Given the description of an element on the screen output the (x, y) to click on. 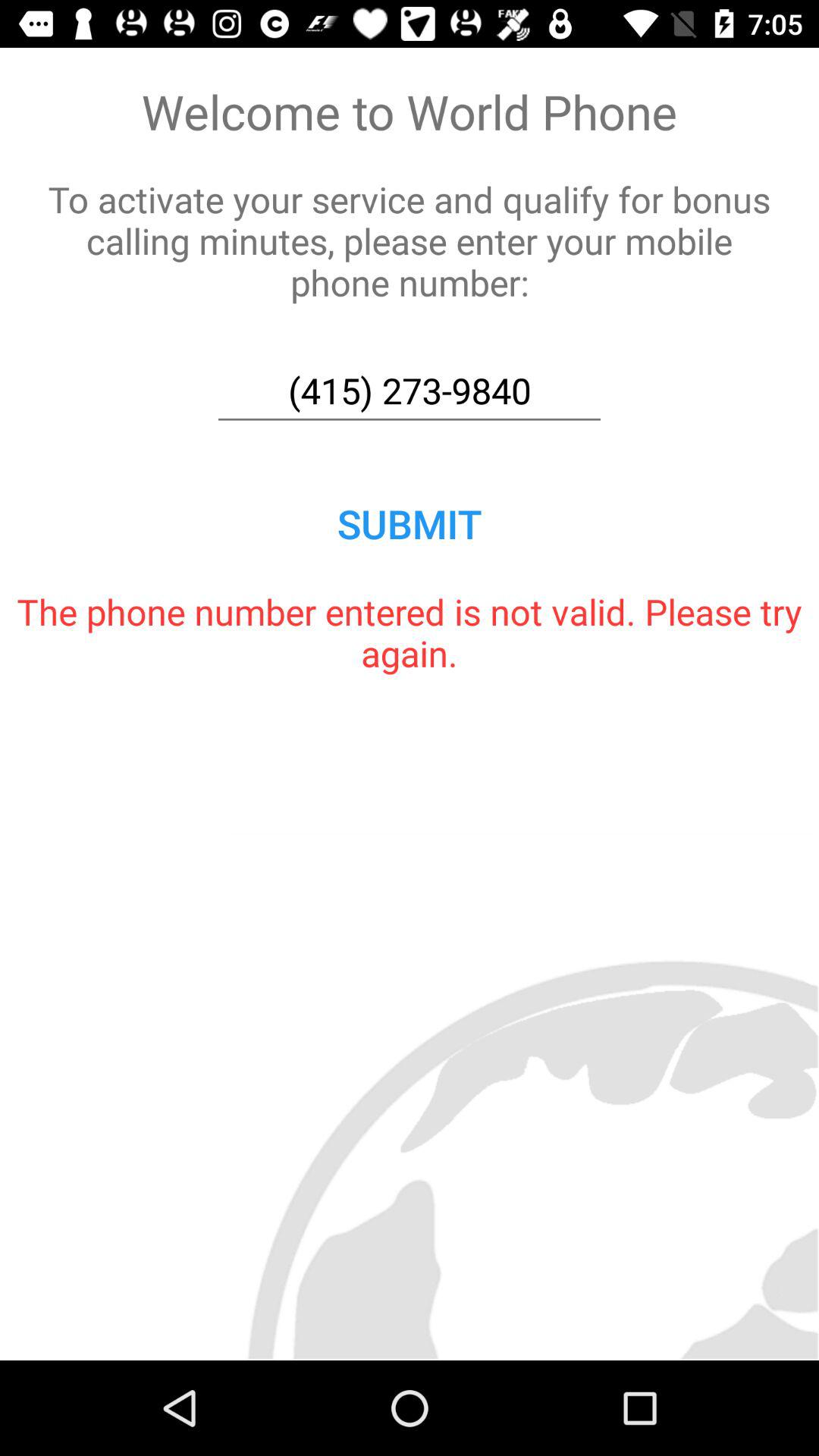
open (415) 273-9840 (409, 391)
